Given the description of an element on the screen output the (x, y) to click on. 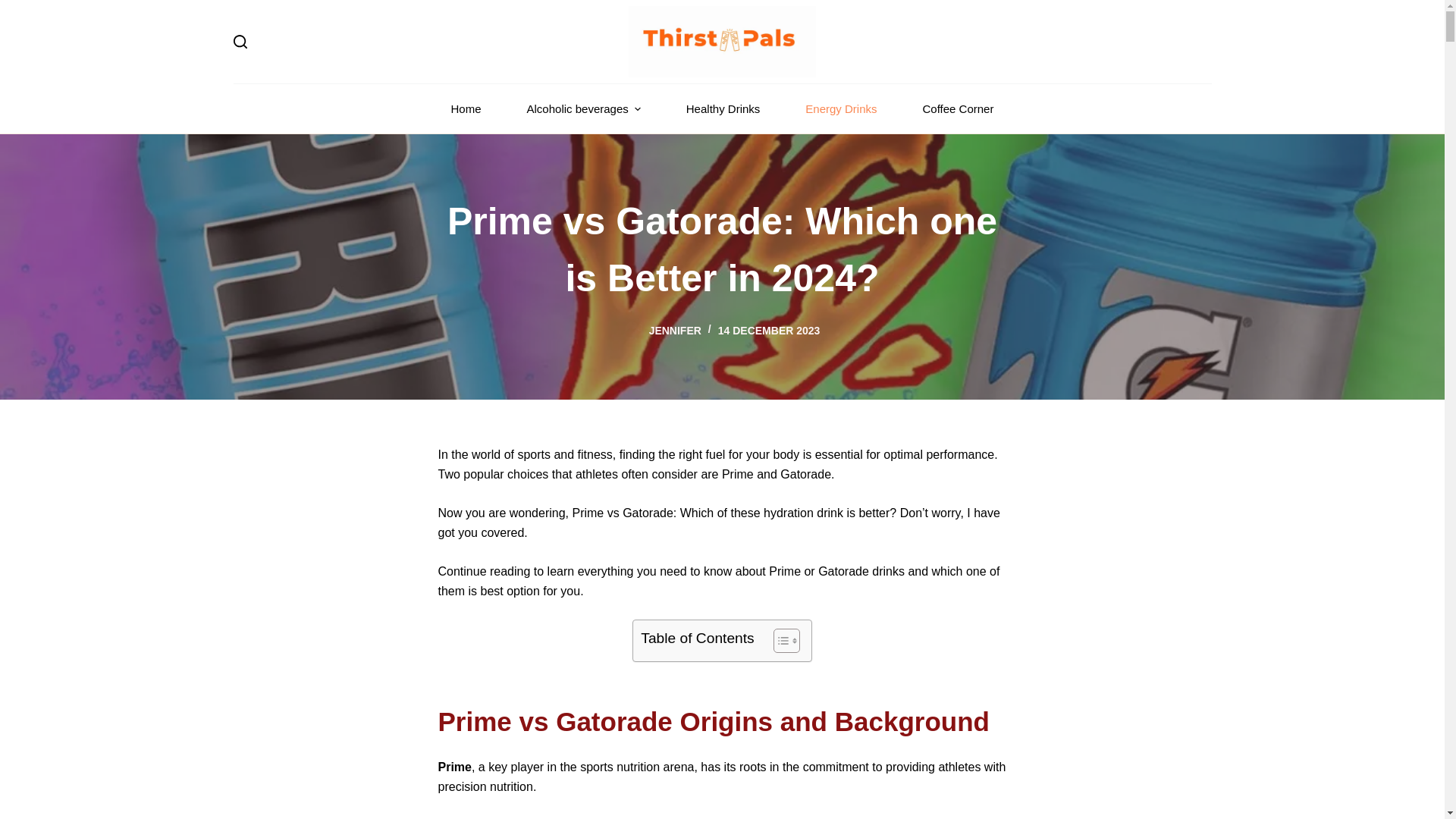
Skip to content (15, 7)
Healthy Drinks (723, 108)
Coffee Corner (957, 108)
Alcoholic beverages (583, 108)
Energy Drinks (841, 108)
Home (465, 108)
Posts by Jennifer (675, 330)
JENNIFER (675, 330)
Prime vs Gatorade: Which one is Better in 2024? (722, 249)
